Given the description of an element on the screen output the (x, y) to click on. 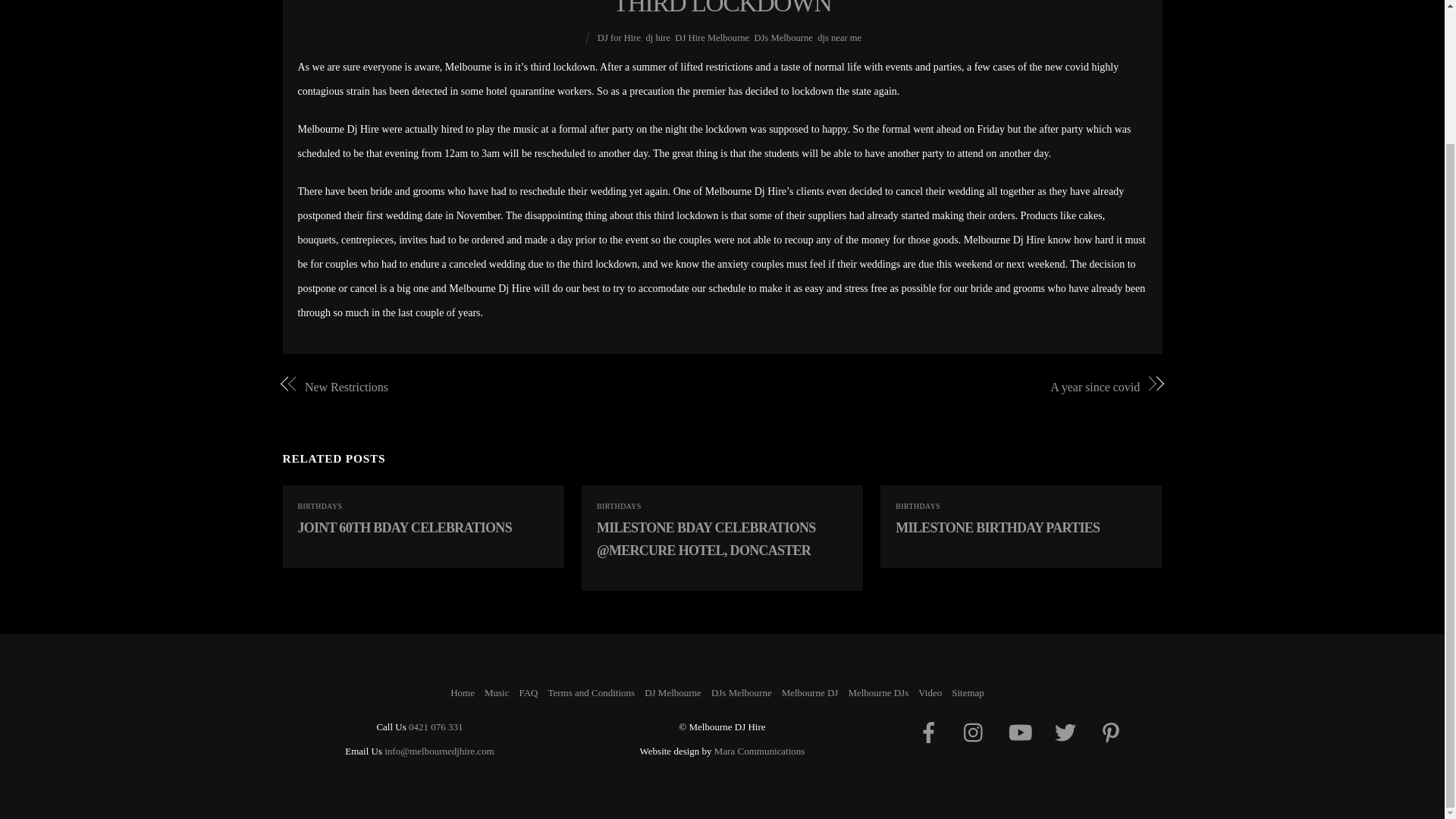
DJ Hire Melbourne (712, 37)
DJs Melbourne (783, 37)
BIRTHDAYS (619, 506)
New Restrictions (499, 387)
DJ for Hire (618, 37)
DJ Melbourne (673, 692)
Terms and Conditions (590, 692)
BIRTHDAYS (319, 506)
Music (496, 692)
0421 076 331 (436, 726)
djs near me (838, 37)
Video (930, 692)
Mara Communications (759, 750)
dj hire (657, 37)
MILESTONE BIRTHDAY PARTIES (997, 527)
